Given the description of an element on the screen output the (x, y) to click on. 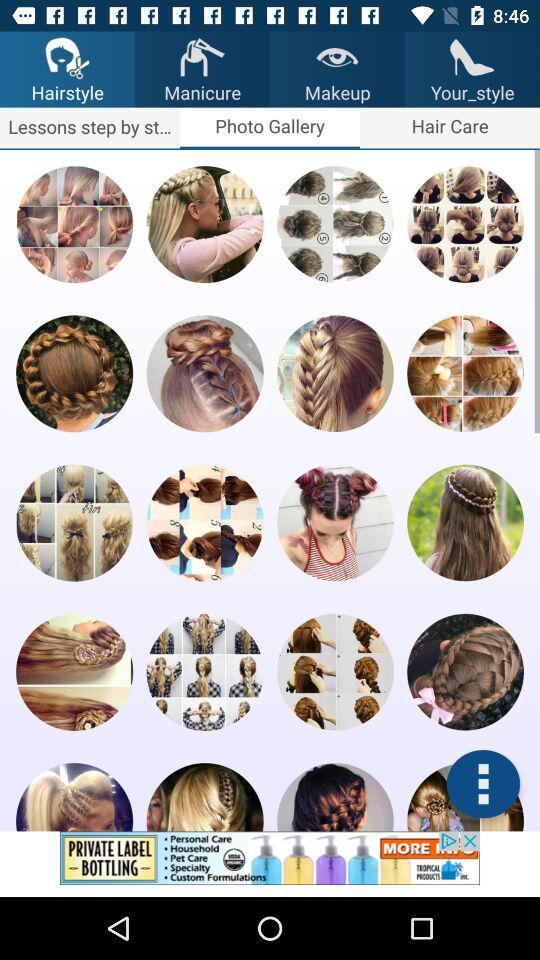
select hairstyle (335, 797)
